Given the description of an element on the screen output the (x, y) to click on. 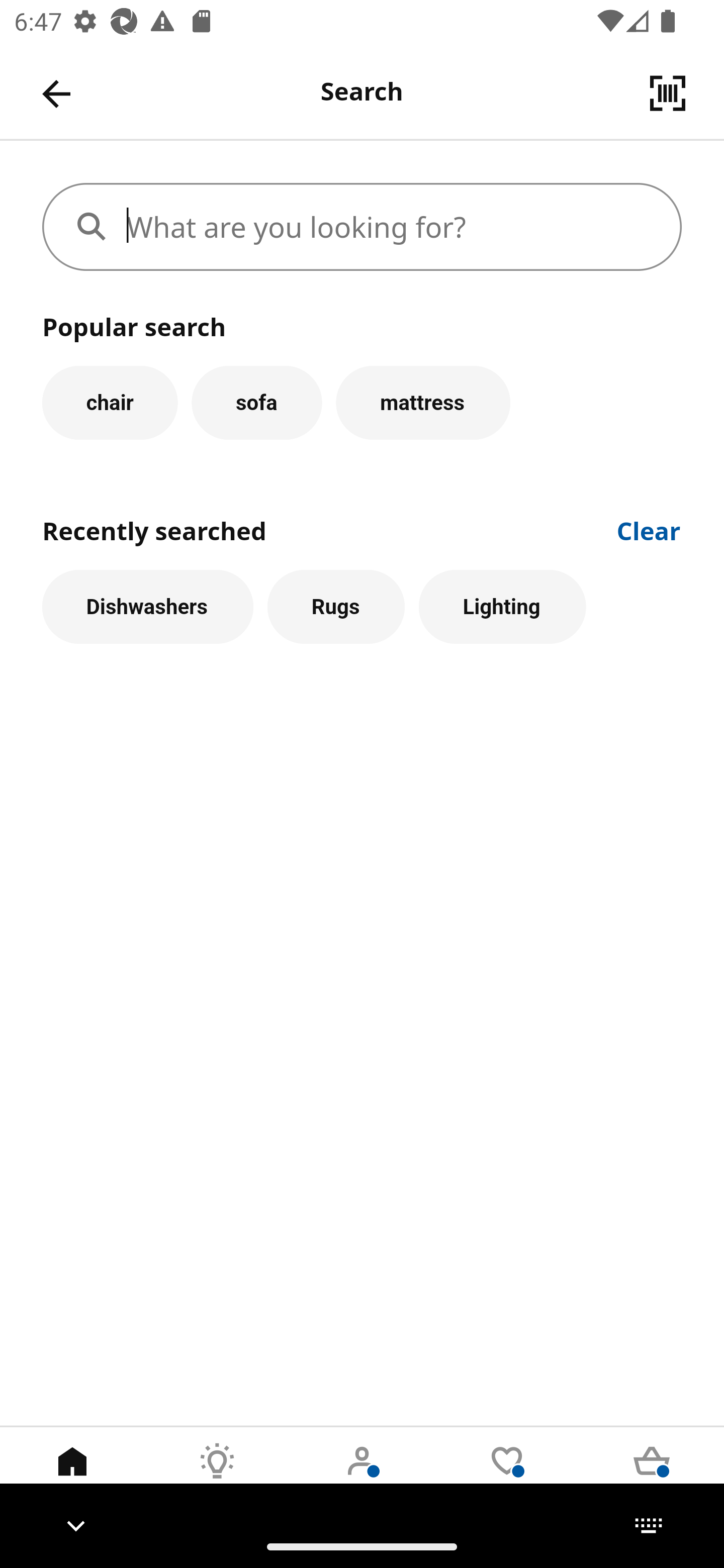
chair (109, 402)
sofa (256, 402)
mattress (423, 402)
Clear (649, 528)
Dishwashers (147, 606)
Rugs (335, 606)
Lighting (502, 606)
Home
Tab 1 of 5 (72, 1476)
Inspirations
Tab 2 of 5 (216, 1476)
User
Tab 3 of 5 (361, 1476)
Wishlist
Tab 4 of 5 (506, 1476)
Cart
Tab 5 of 5 (651, 1476)
